Given the description of an element on the screen output the (x, y) to click on. 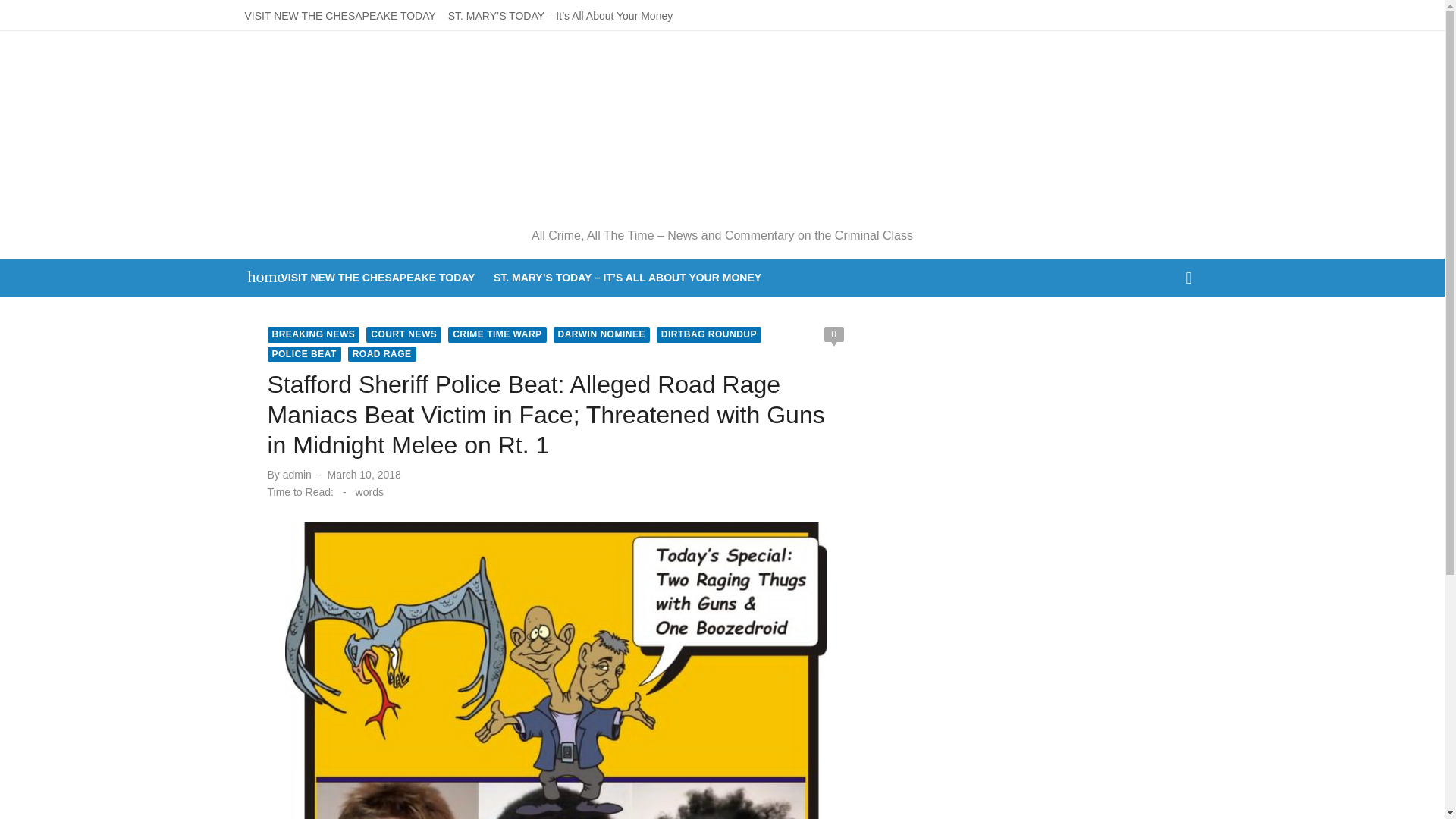
CRIME TIME WARP (497, 334)
COURT NEWS (403, 334)
home (258, 275)
VISIT NEW THE CHESAPEAKE TODAY (339, 15)
BREAKING NEWS (312, 334)
ROAD RAGE (381, 354)
March 10, 2018 (364, 474)
DIRTBAG ROUNDUP (708, 334)
0 (833, 334)
DARWIN NOMINEE (601, 334)
